Given the description of an element on the screen output the (x, y) to click on. 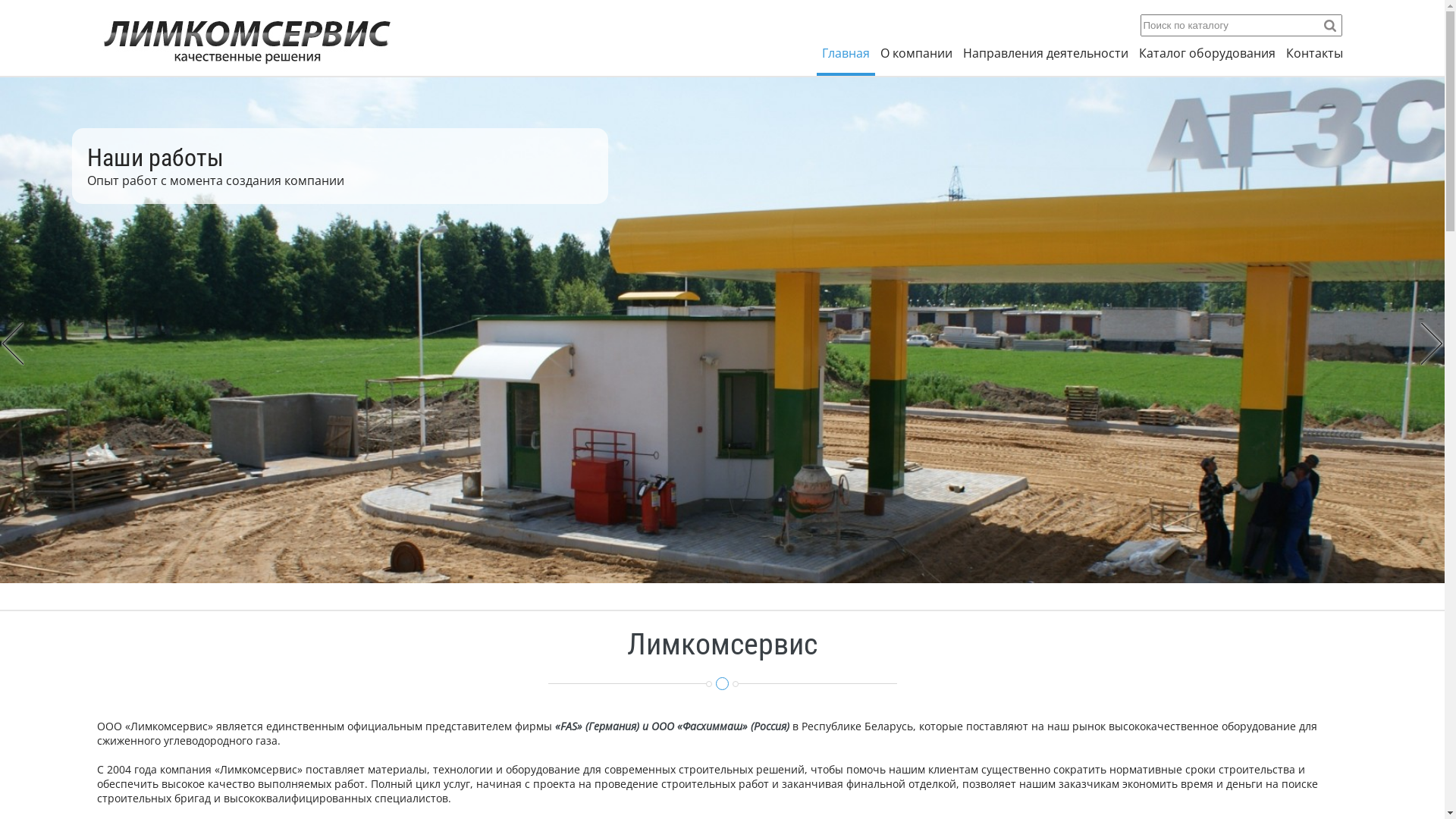
Previous Element type: text (12, 343)
Next Element type: text (1431, 343)
